Given the description of an element on the screen output the (x, y) to click on. 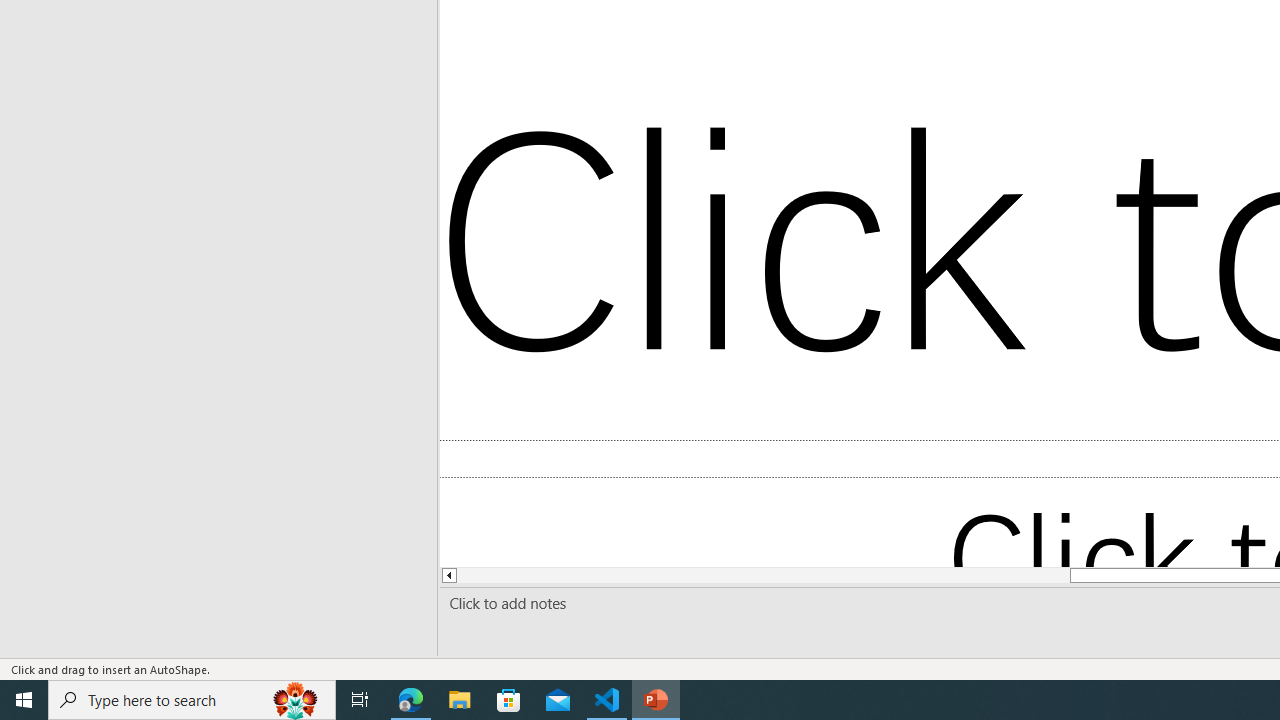
Spell Check  (92, 668)
Accessibility Checker Accessibility: Good to go (384, 668)
